Given the description of an element on the screen output the (x, y) to click on. 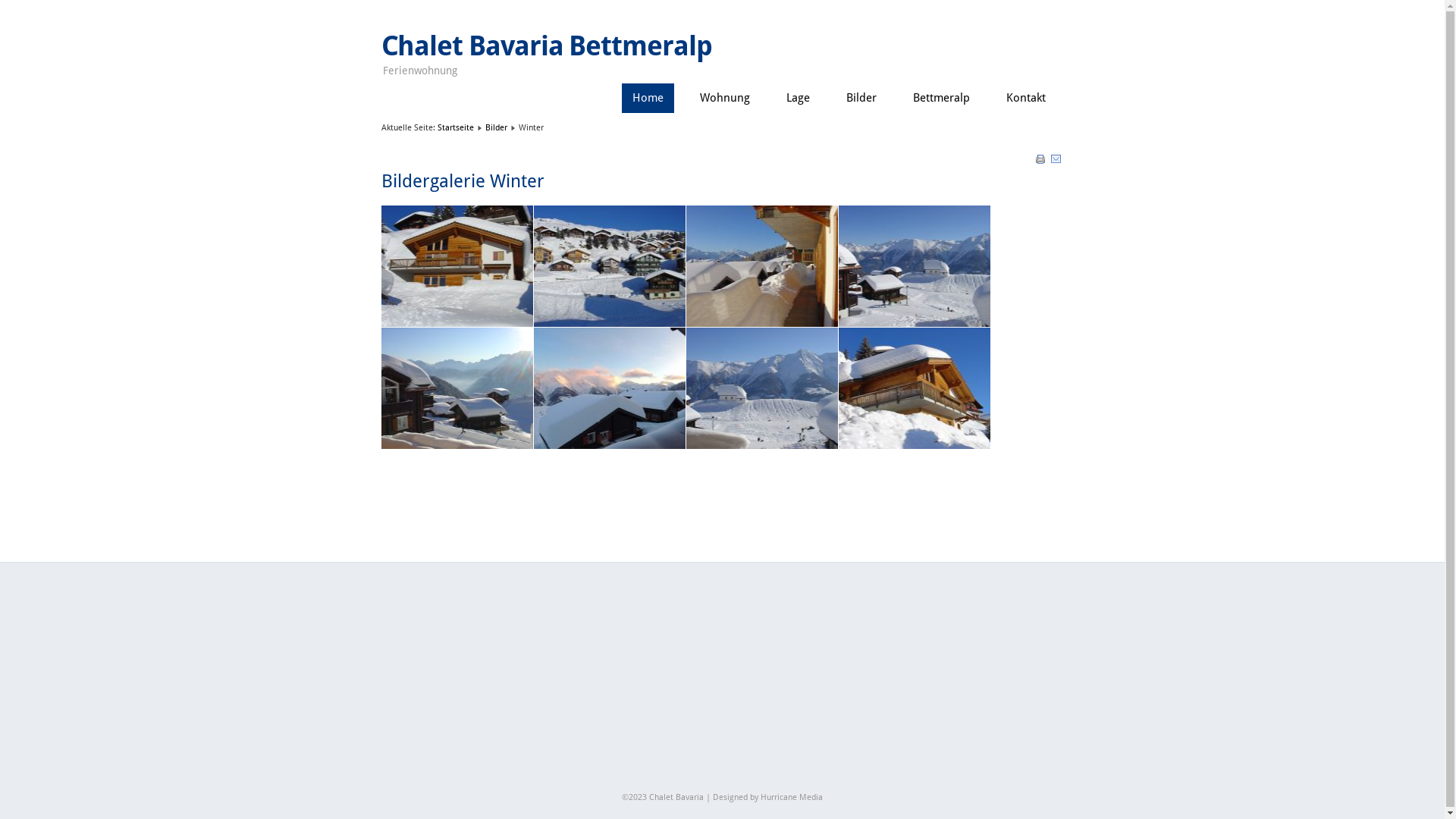
Chalet Bavaria Bettmeralp Element type: text (545, 46)
Lage Element type: text (797, 97)
Wohnung Element type: text (723, 97)
Bilder Element type: text (861, 97)
Eintrag ausdrucken < Bilder Winter > Element type: hover (1041, 161)
You are viewing the image with filename 05_Aussicht_Ost.jpg Element type: hover (456, 387)
You are viewing the image with filename 02_Ansicht_Sued.jpg Element type: hover (609, 265)
Startseite Element type: text (454, 127)
Kontakt Element type: text (1024, 97)
Home Element type: text (647, 97)
Link einem Freund via E-Mail senden Element type: hover (1055, 161)
Bilder Element type: text (496, 127)
Bettmeralp Element type: text (941, 97)
